Given the description of an element on the screen output the (x, y) to click on. 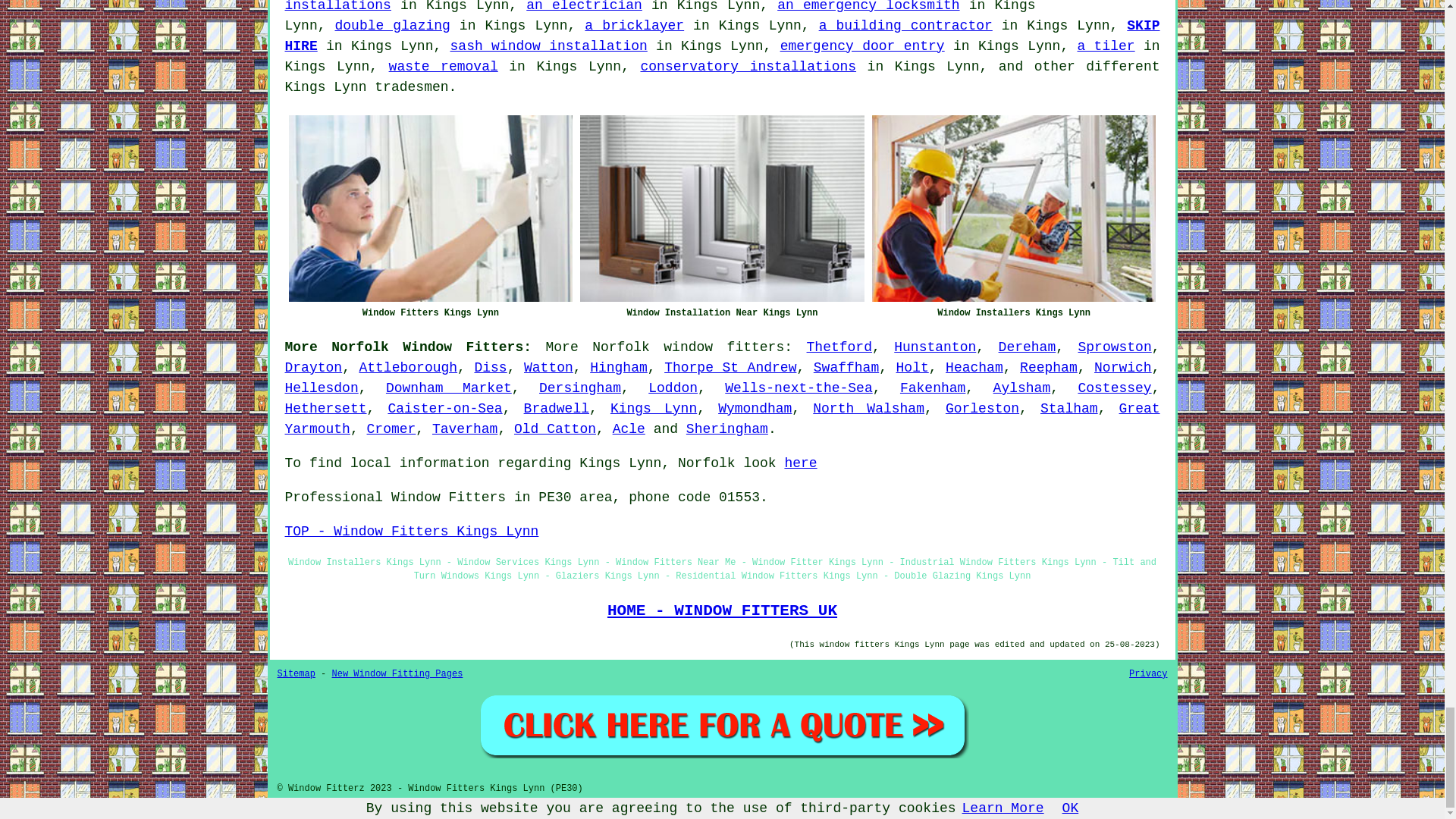
More Kings Lynn Tradesmen (1103, 3)
